Given the description of an element on the screen output the (x, y) to click on. 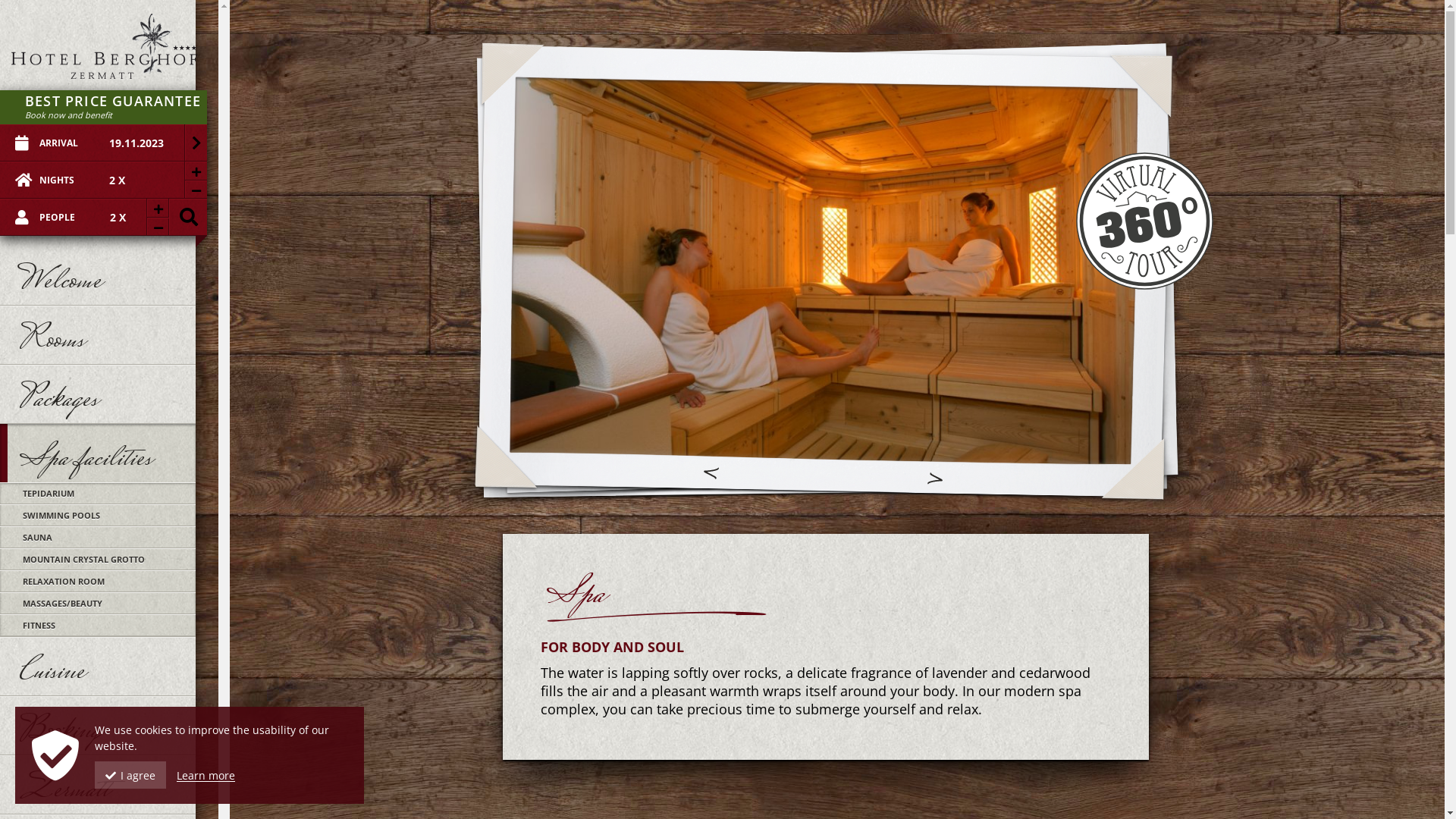
MOUNTAIN CRYSTAL GROTTO Element type: text (97, 559)
Rooms Element type: text (101, 335)
I agree Element type: text (130, 774)
Packages Element type: text (101, 394)
Welcome Element type: text (101, 275)
FITNESS Element type: text (97, 625)
RELAXATION ROOM Element type: text (97, 581)
Spa facilities Element type: text (101, 453)
TEPIDARIUM Element type: text (97, 493)
Next Element type: text (933, 478)
Booking Element type: text (101, 725)
SAUNA Element type: text (97, 537)
SWIMMING POOLS Element type: text (97, 515)
Prev Element type: text (710, 473)
Cuisine Element type: text (101, 666)
BEST PRICE GUARANTEE
Book now and benefit Element type: text (103, 107)
Learn more Element type: text (205, 775)
Zermatt Element type: text (101, 784)
MASSAGES/BEAUTY Element type: text (97, 603)
